Given the description of an element on the screen output the (x, y) to click on. 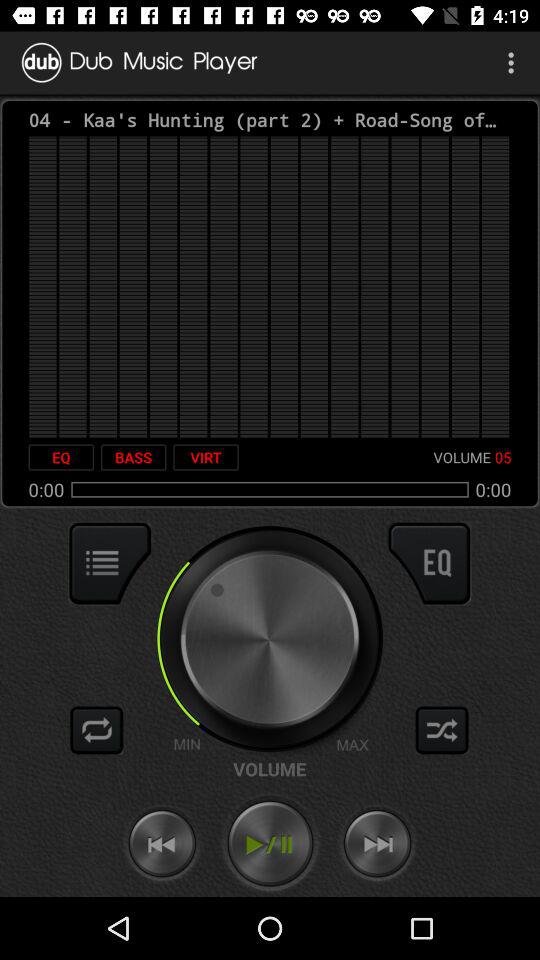
turn on item to the right of the   eq   icon (133, 457)
